Given the description of an element on the screen output the (x, y) to click on. 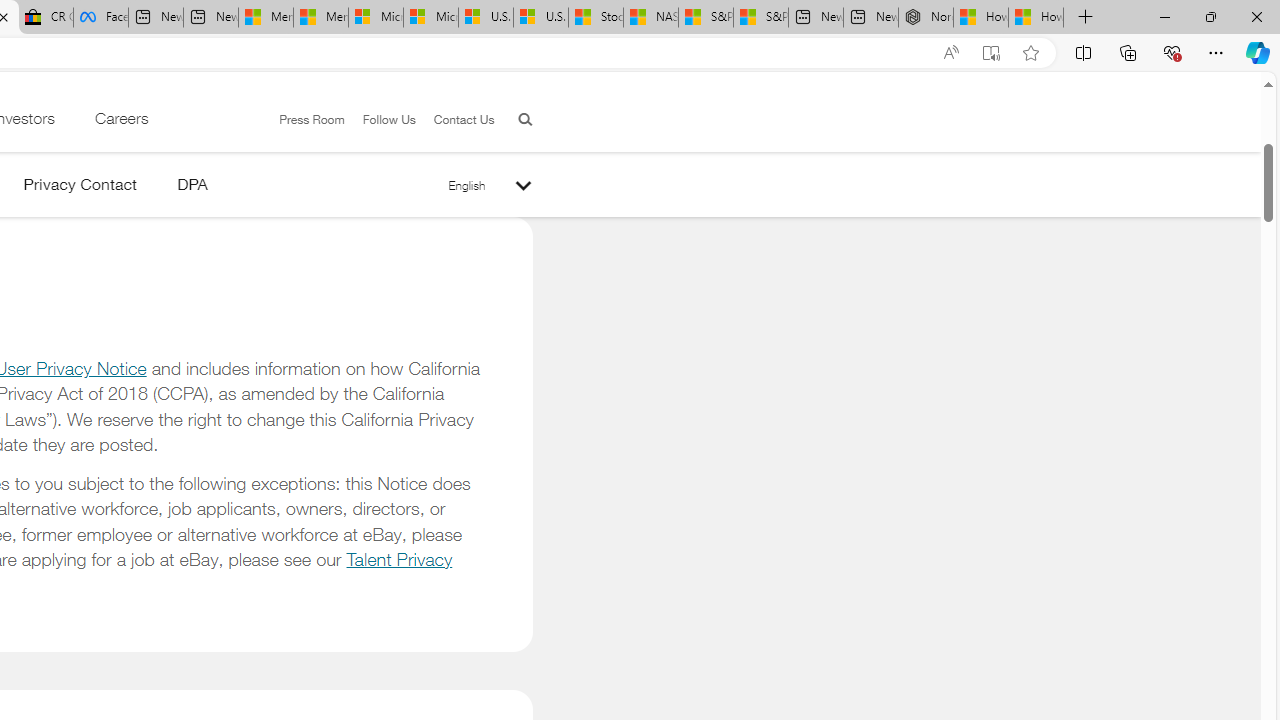
How to Use a Monitor With Your Closed Laptop (1035, 17)
DPA (191, 188)
